Given the description of an element on the screen output the (x, y) to click on. 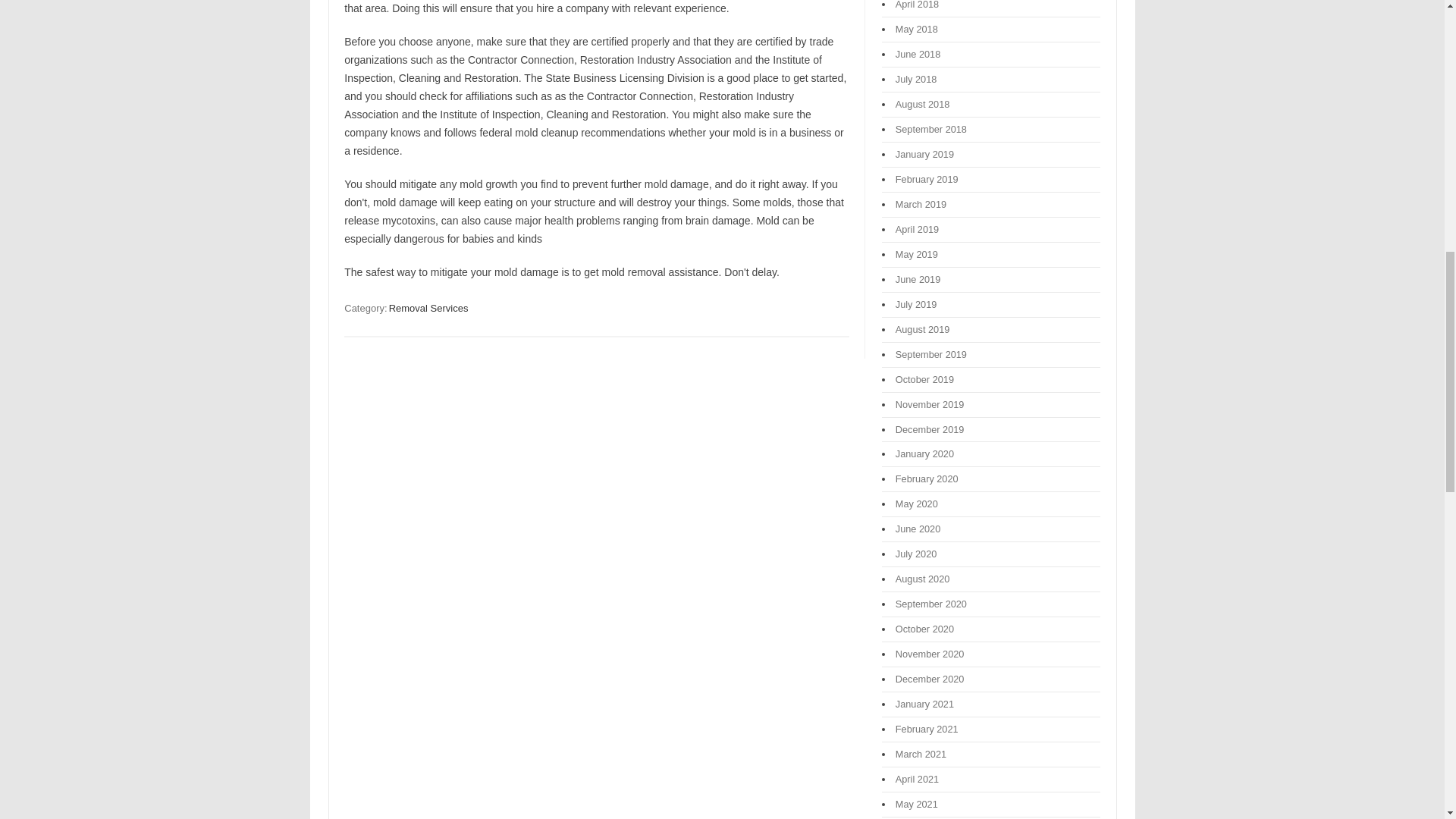
April 2018 (917, 4)
February 2019 (926, 179)
View all posts in Removal Services (428, 308)
August 2018 (922, 103)
September 2018 (930, 129)
June 2018 (917, 53)
March 2019 (920, 204)
June 2019 (917, 279)
Removal Services (428, 308)
May 2019 (916, 254)
